Given the description of an element on the screen output the (x, y) to click on. 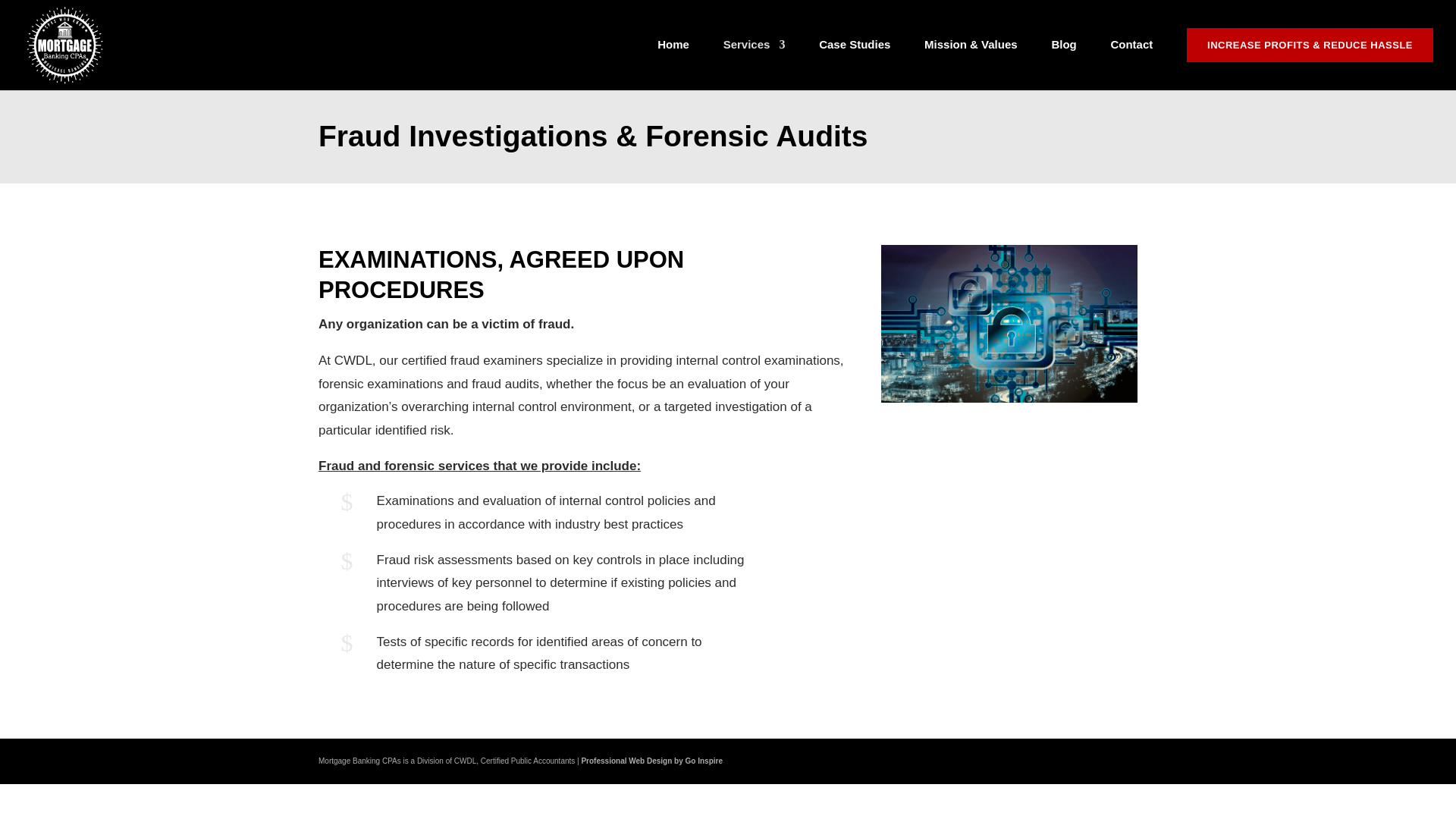
Case Studies (853, 64)
Professional Web Design by Go Inspire (651, 760)
Services (754, 64)
